Given the description of an element on the screen output the (x, y) to click on. 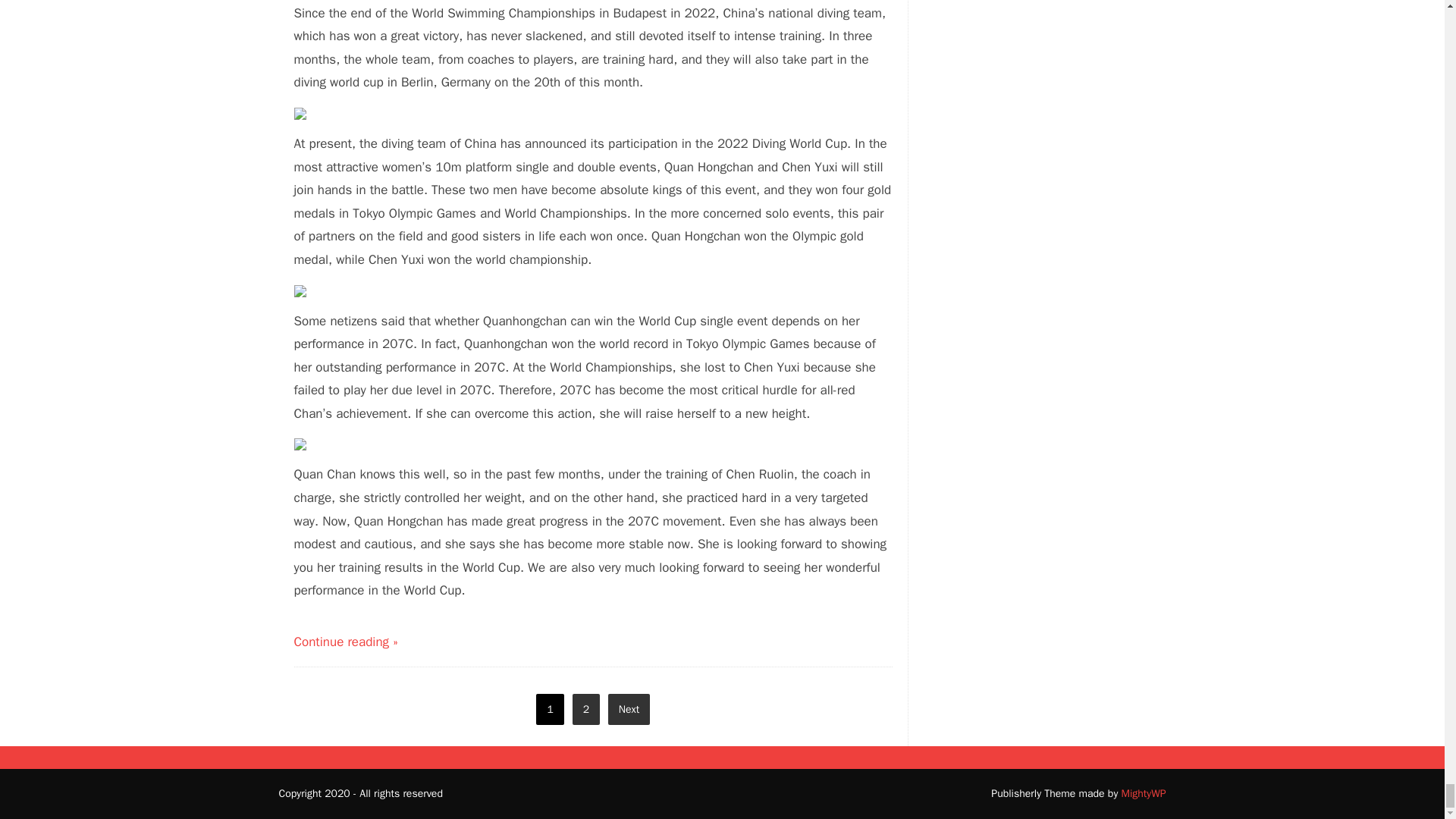
Next (628, 708)
